Given the description of an element on the screen output the (x, y) to click on. 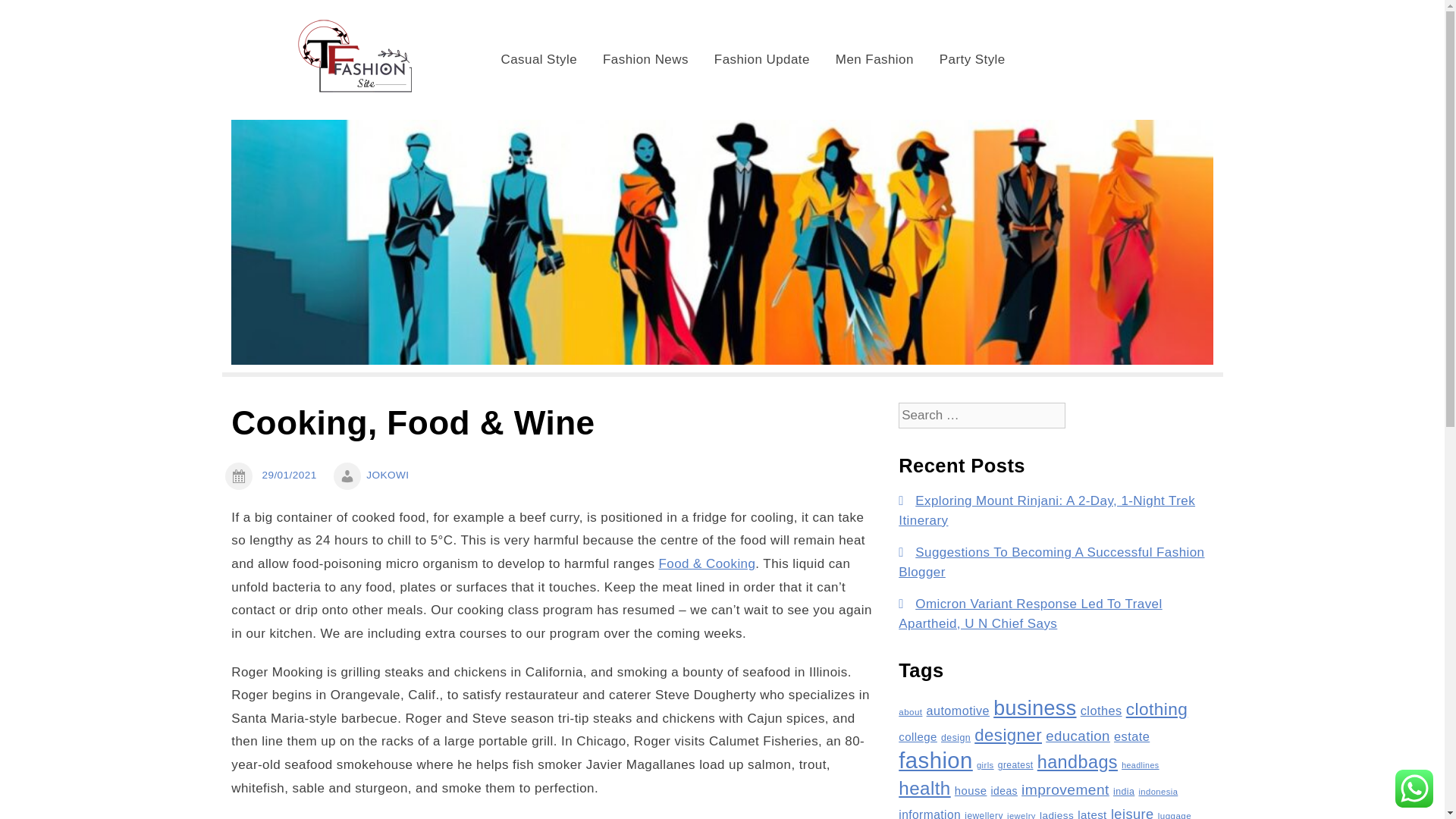
Fashion Update (761, 59)
business (1033, 707)
Search (35, 15)
college (917, 736)
Exploring Mount Rinjani: A 2-Day, 1-Night Trek Itinerary (1046, 510)
design (955, 737)
designer (1008, 734)
Party Style (971, 59)
greatest (1015, 765)
